Given the description of an element on the screen output the (x, y) to click on. 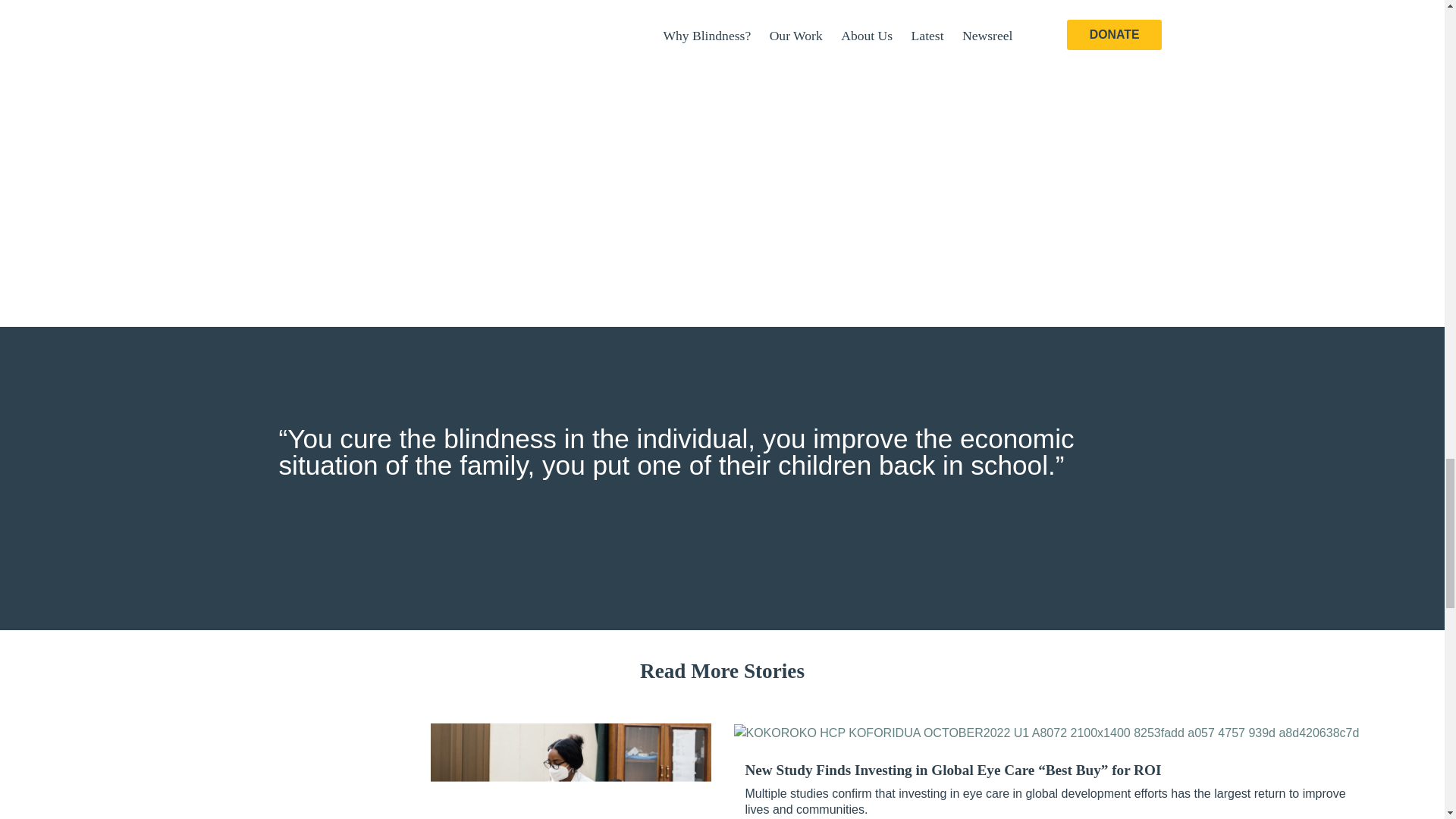
IMG 0057 2100x1400 7806cee6 3d19 4ac3 9bbb c3b3bc3850db (570, 771)
